Given the description of an element on the screen output the (x, y) to click on. 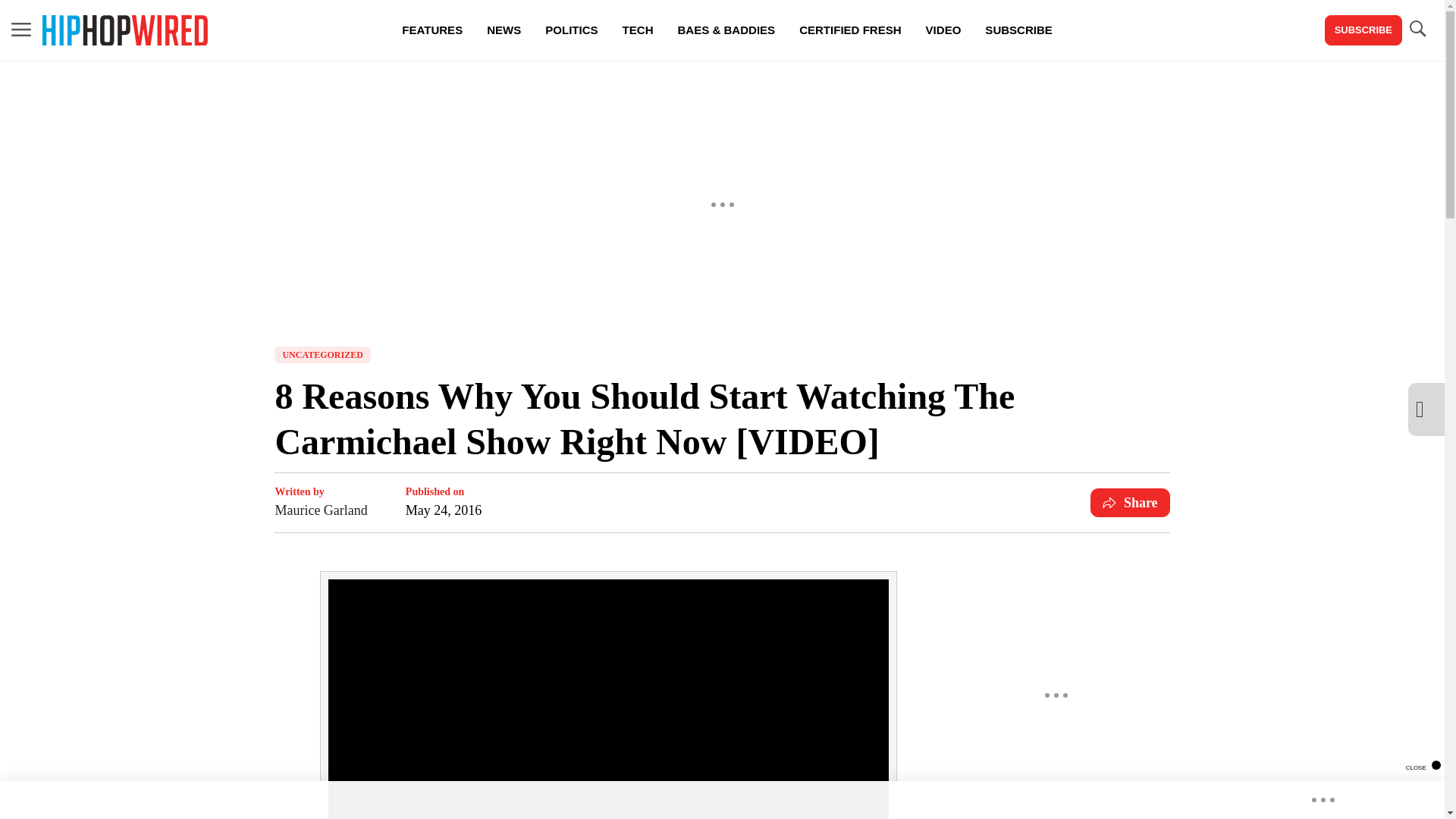
NEWS (503, 30)
MENU (20, 29)
Maurice Garland (320, 509)
CERTIFIED FRESH (849, 30)
UNCATEGORIZED (322, 354)
POLITICS (571, 30)
VIDEO (944, 30)
FEATURES (432, 30)
Share (1130, 502)
TOGGLE SEARCH (1417, 30)
TECH (637, 30)
TOGGLE SEARCH (1417, 28)
SUBSCRIBE (1363, 30)
SUBSCRIBE (1018, 30)
MENU (20, 30)
